Given the description of an element on the screen output the (x, y) to click on. 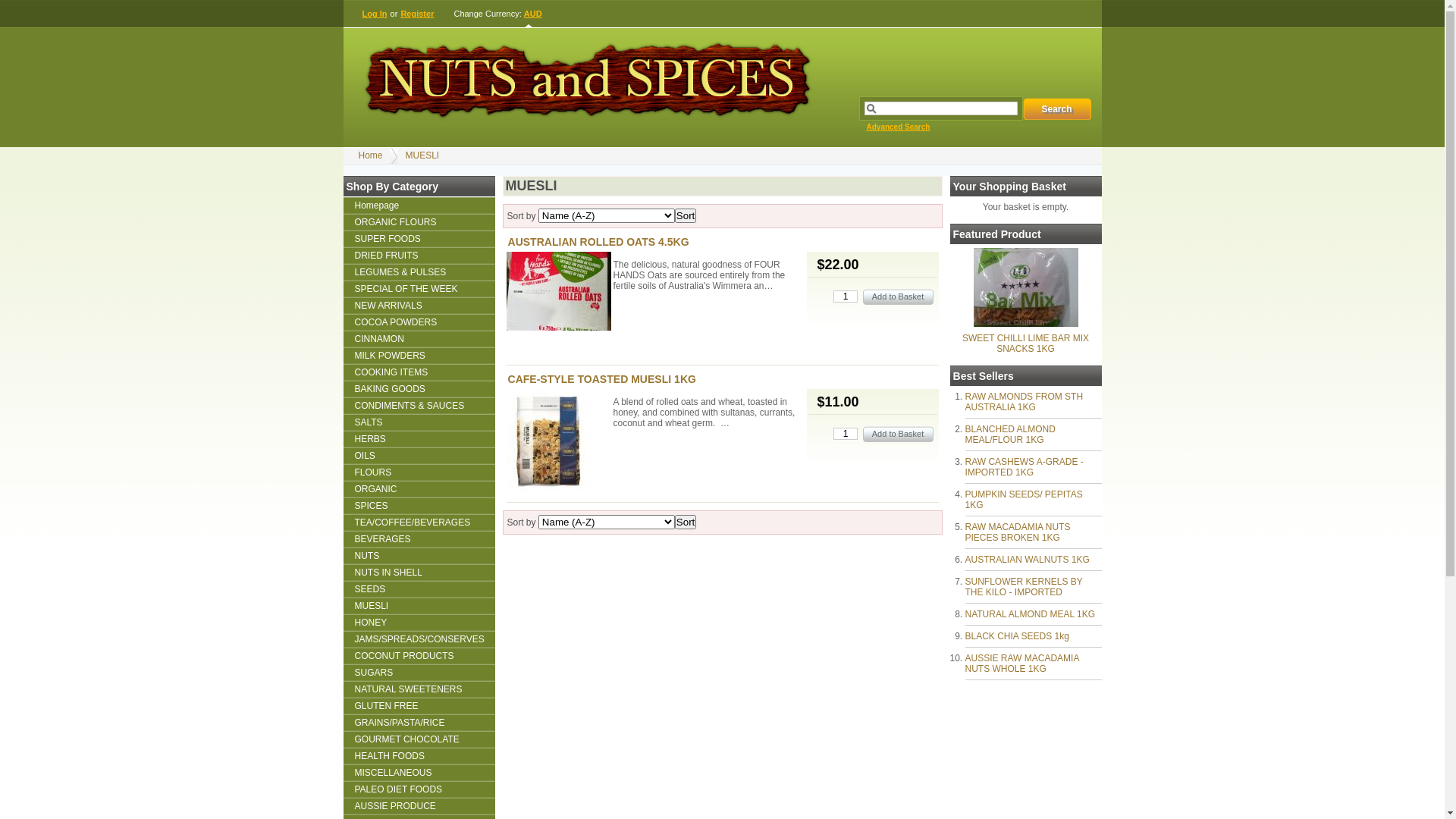
COOKING ITEMS Element type: text (418, 372)
COCOA POWDERS Element type: text (418, 321)
Search our store Element type: hover (940, 108)
BEVERAGES Element type: text (418, 538)
AUD Element type: text (533, 13)
BLANCHED ALMOND MEAL/FLOUR 1KG Element type: text (1009, 434)
SALTS Element type: text (418, 422)
BAKING GOODS Element type: text (418, 388)
SPICES Element type: text (418, 505)
AUSTRALIAN ROLLED OATS 4.5KG Element type: text (598, 241)
PUMPKIN SEEDS/ PEPITAS 1KG Element type: text (1023, 499)
Add to Basket Element type: text (897, 434)
ORGANIC FLOURS Element type: text (418, 221)
NATURAL ALMOND MEAL 1KG Element type: text (1029, 613)
MUESLI Element type: text (418, 605)
MILK POWDERS Element type: text (418, 355)
CAFE-STYLE TOASTED MUESLI 1KG Element type: text (602, 379)
AUSTRALIAN WALNUTS 1KG Element type: text (1026, 559)
Home Element type: text (369, 155)
ORGANIC Element type: text (418, 488)
GRAINS/PASTA/RICE Element type: text (418, 722)
SUPER FOODS Element type: text (418, 238)
TEA/COFFEE/BEVERAGES Element type: text (418, 522)
NUTS IN SHELL Element type: text (418, 572)
GLUTEN FREE Element type: text (418, 705)
CONDIMENTS & SAUCES Element type: text (418, 405)
AUSTRALIAN ROLLED OATS 4.5KG Element type: hover (558, 291)
Advanced Search Element type: text (896, 136)
Sort Element type: text (685, 521)
NUTS Element type: text (418, 555)
SPECIAL OF THE WEEK Element type: text (418, 288)
GOURMET CHOCOLATE Element type: text (418, 739)
RAW ALMONDS FROM STH AUSTRALIA 1KG Element type: text (1023, 401)
RAW CASHEWS A-GRADE - IMPORTED 1KG Element type: text (1023, 466)
CINNAMON Element type: text (418, 338)
Homepage Element type: text (418, 205)
PALEO DIET FOODS Element type: text (418, 789)
SWEET CHILLI LIME BAR MIX SNACKS 1KG Element type: text (1025, 343)
HERBS Element type: text (418, 438)
SEEDS Element type: text (418, 588)
Add to Basket Element type: text (897, 296)
SUNFLOWER KERNELS BY THE KILO - IMPORTED Element type: text (1023, 586)
SWEET CHILLI LIME BAR MIX SNACKS 1KG  Element type: hover (1025, 323)
AUSSIE RAW MACADAMIA NUTS WHOLE 1KG Element type: text (1021, 663)
DRIED FRUITS Element type: text (418, 255)
JAMS/SPREADS/CONSERVES Element type: text (418, 638)
MUESLI Element type: text (422, 155)
SUGARS Element type: text (418, 672)
HONEY Element type: text (418, 622)
LEGUMES & PULSES Element type: text (418, 271)
Search Element type: text (1056, 108)
BLACK CHIA SEEDS 1kg Element type: text (1016, 635)
NEW ARRIVALS Element type: text (418, 305)
Log In Element type: text (375, 13)
OILS Element type: text (418, 455)
CAFE-STYLE TOASTED MUESLI 1KG Element type: hover (558, 442)
Register Element type: text (416, 13)
AUSSIE PRODUCE Element type: text (418, 805)
NATURAL SWEETENERS Element type: text (418, 688)
COCONUT PRODUCTS Element type: text (418, 655)
HEALTH FOODS Element type: text (418, 755)
Sort Element type: text (685, 215)
MISCELLANEOUS Element type: text (418, 772)
FLOURS Element type: text (418, 472)
RAW MACADAMIA NUTS PIECES BROKEN 1KG Element type: text (1017, 531)
